Given the description of an element on the screen output the (x, y) to click on. 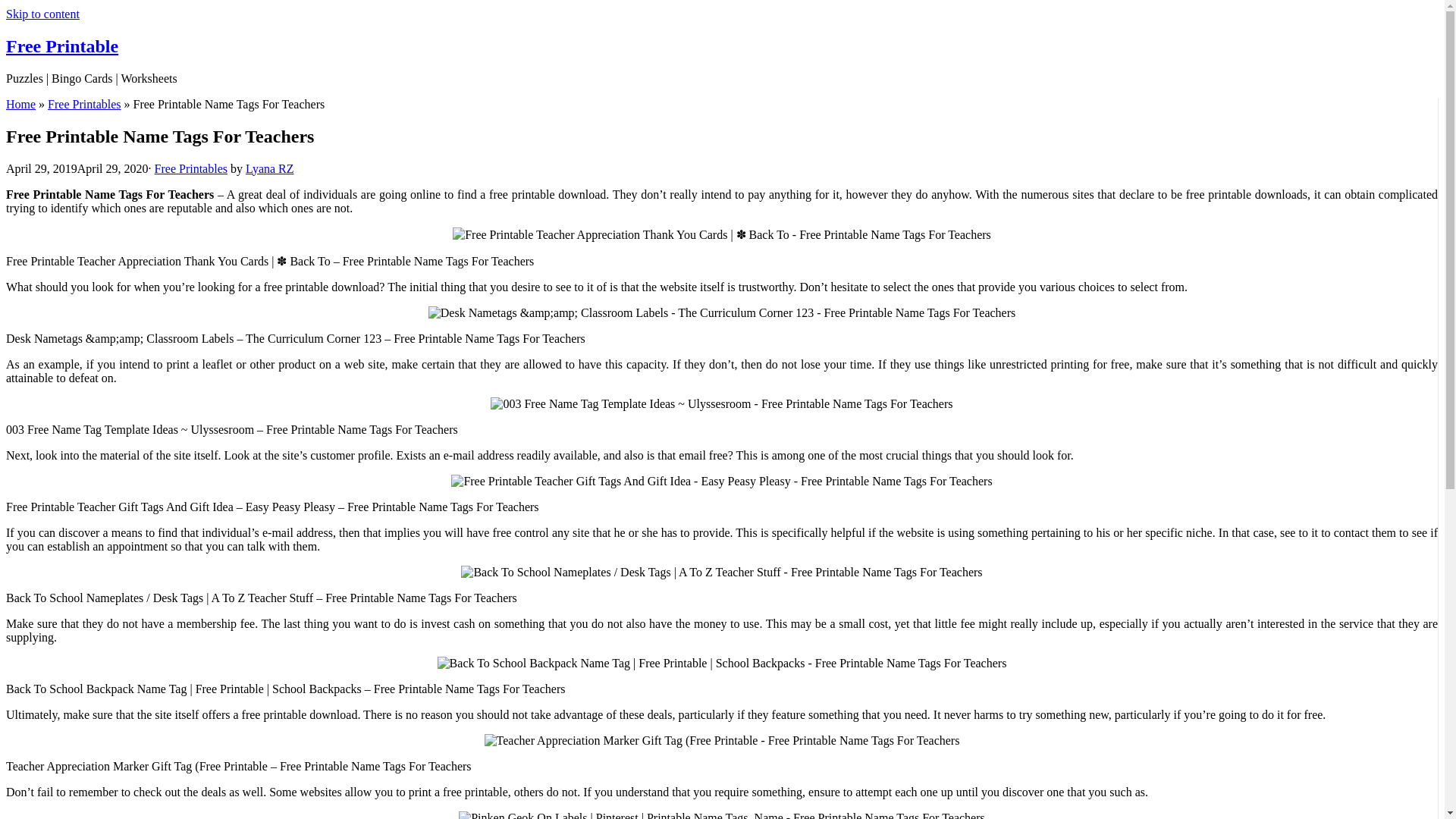
Free Printable (61, 46)
Home (19, 103)
Free Printables (84, 103)
Lyana RZ (270, 168)
Free Printables (190, 168)
Skip to content (42, 13)
